Given the description of an element on the screen output the (x, y) to click on. 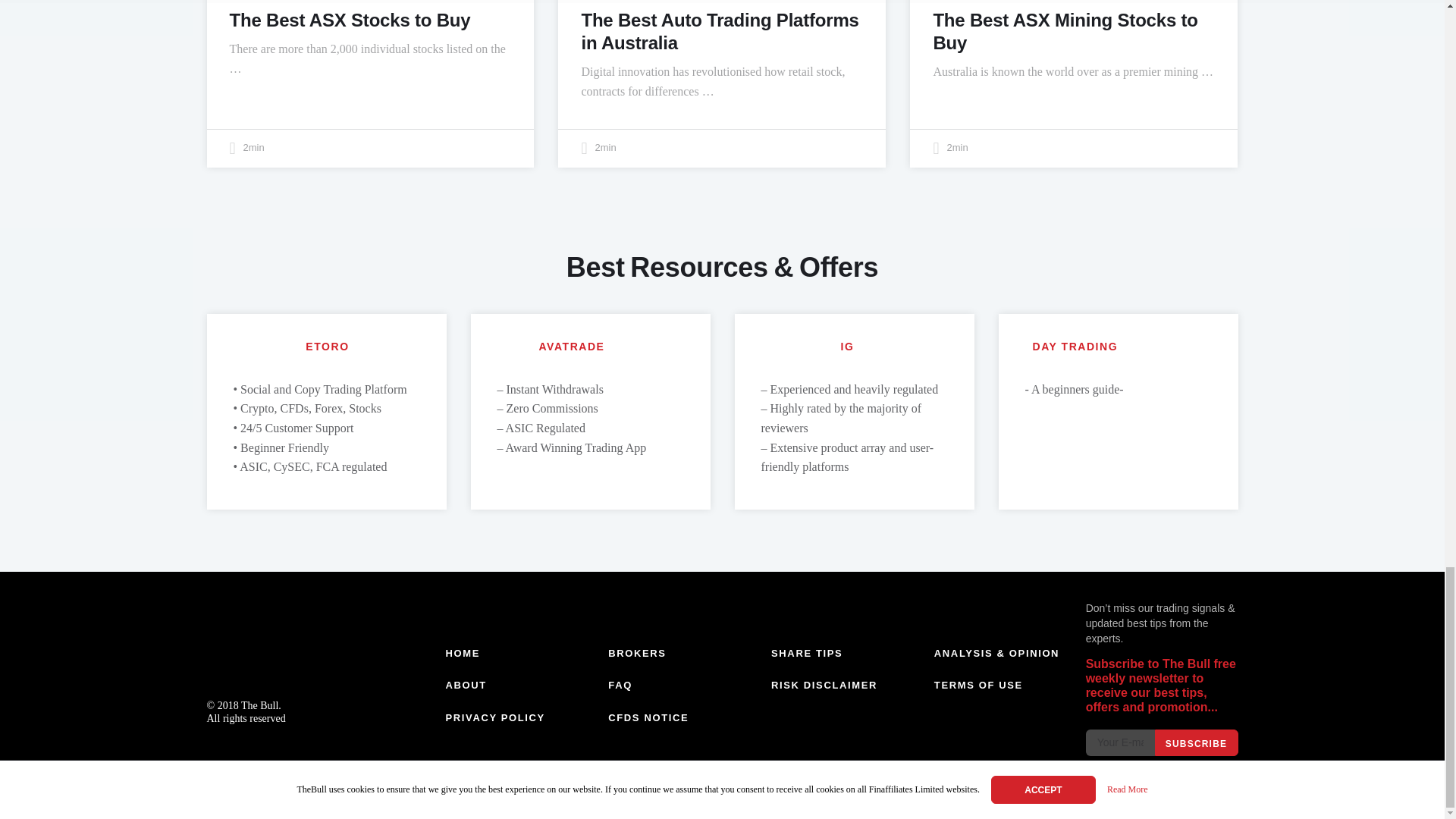
The Best Auto Trading Platforms in Australia (719, 31)
Subscribe (1195, 742)
The Best ASX Stocks to Buy (349, 19)
